Given the description of an element on the screen output the (x, y) to click on. 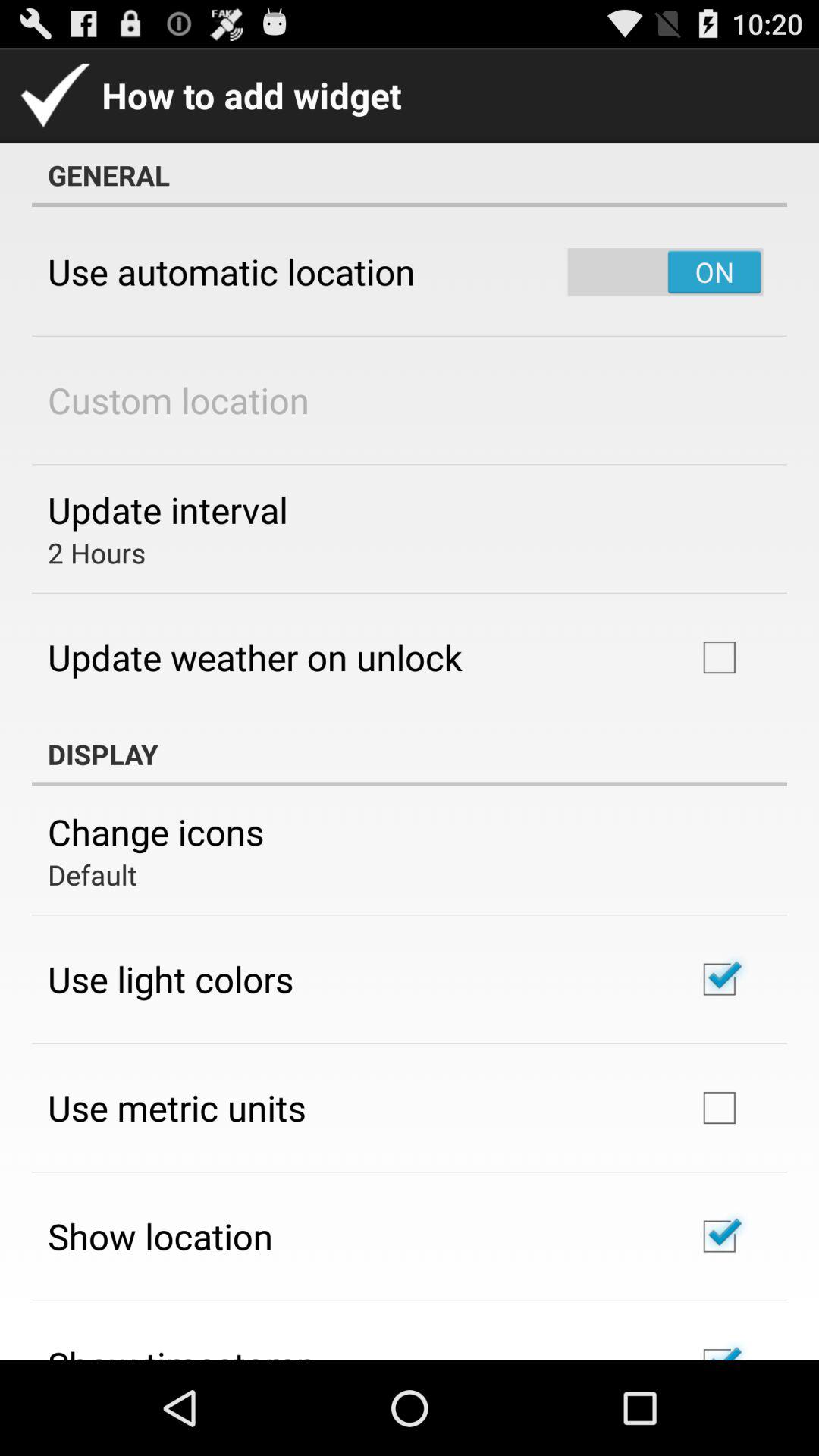
select the app below show location app (181, 1350)
